Given the description of an element on the screen output the (x, y) to click on. 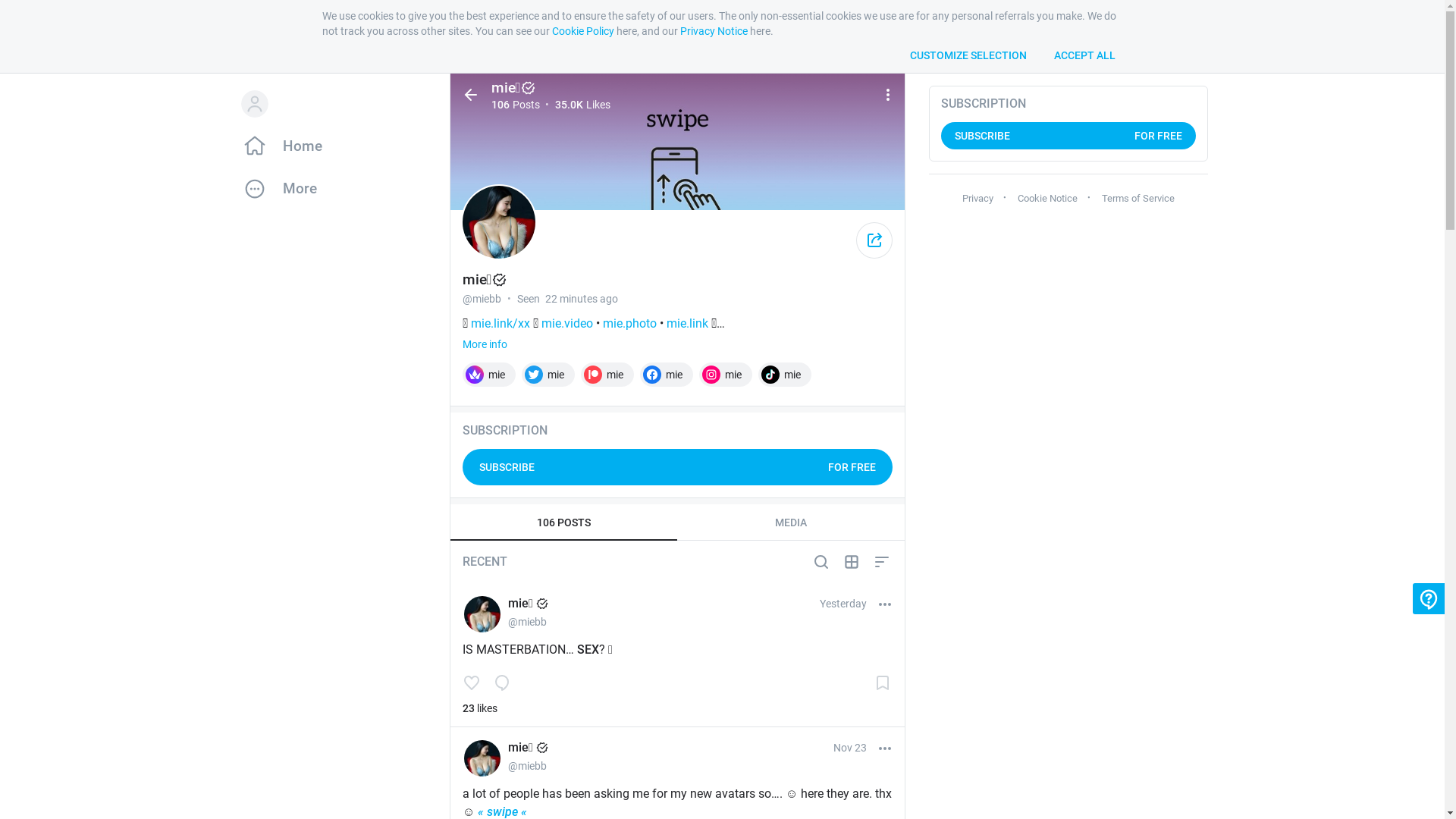
Cookie Policy Element type: text (583, 31)
Privacy Notice Element type: text (712, 31)
23 likes Element type: text (479, 707)
mie.link Element type: text (686, 323)
Yesterday Element type: text (842, 603)
mie Element type: text (547, 374)
Home Element type: text (330, 146)
mie.photo Element type: text (628, 323)
Terms of Service Element type: text (1137, 197)
MEDIA Element type: text (790, 522)
mie Element type: text (666, 374)
mie.link/xx Element type: text (499, 323)
Nov 23 Element type: text (849, 747)
mie.video Element type: text (567, 323)
ACCEPT ALL Element type: text (1084, 55)
CUSTOMIZE SELECTION Element type: text (967, 55)
mie Element type: text (488, 374)
More Element type: text (330, 188)
mie Element type: text (784, 374)
Cookie Notice Element type: text (1047, 197)
mie Element type: text (606, 374)
mie Element type: text (725, 374)
106 POSTS Element type: text (563, 522)
Privacy Element type: text (976, 197)
